Given the description of an element on the screen output the (x, y) to click on. 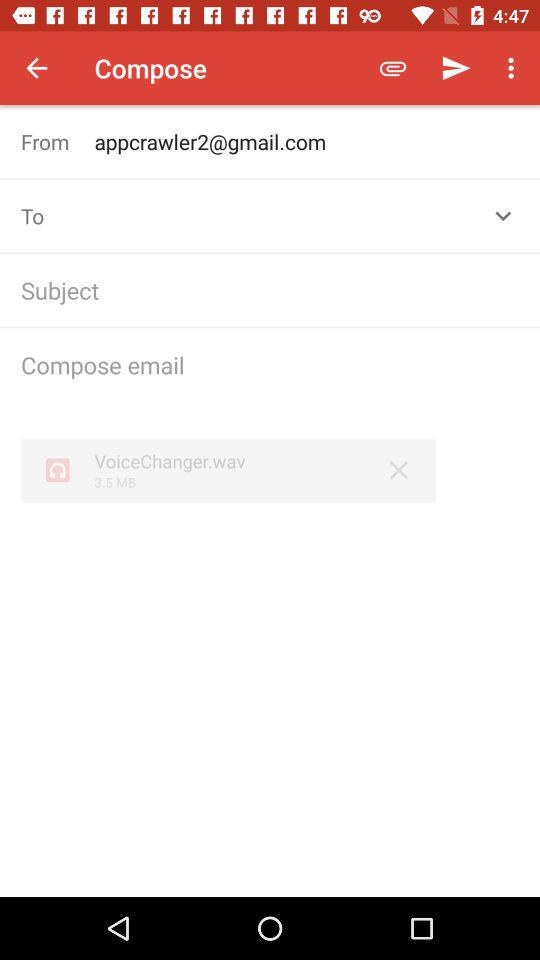
open icon above appcrawler2@gmail.com (513, 67)
